Given the description of an element on the screen output the (x, y) to click on. 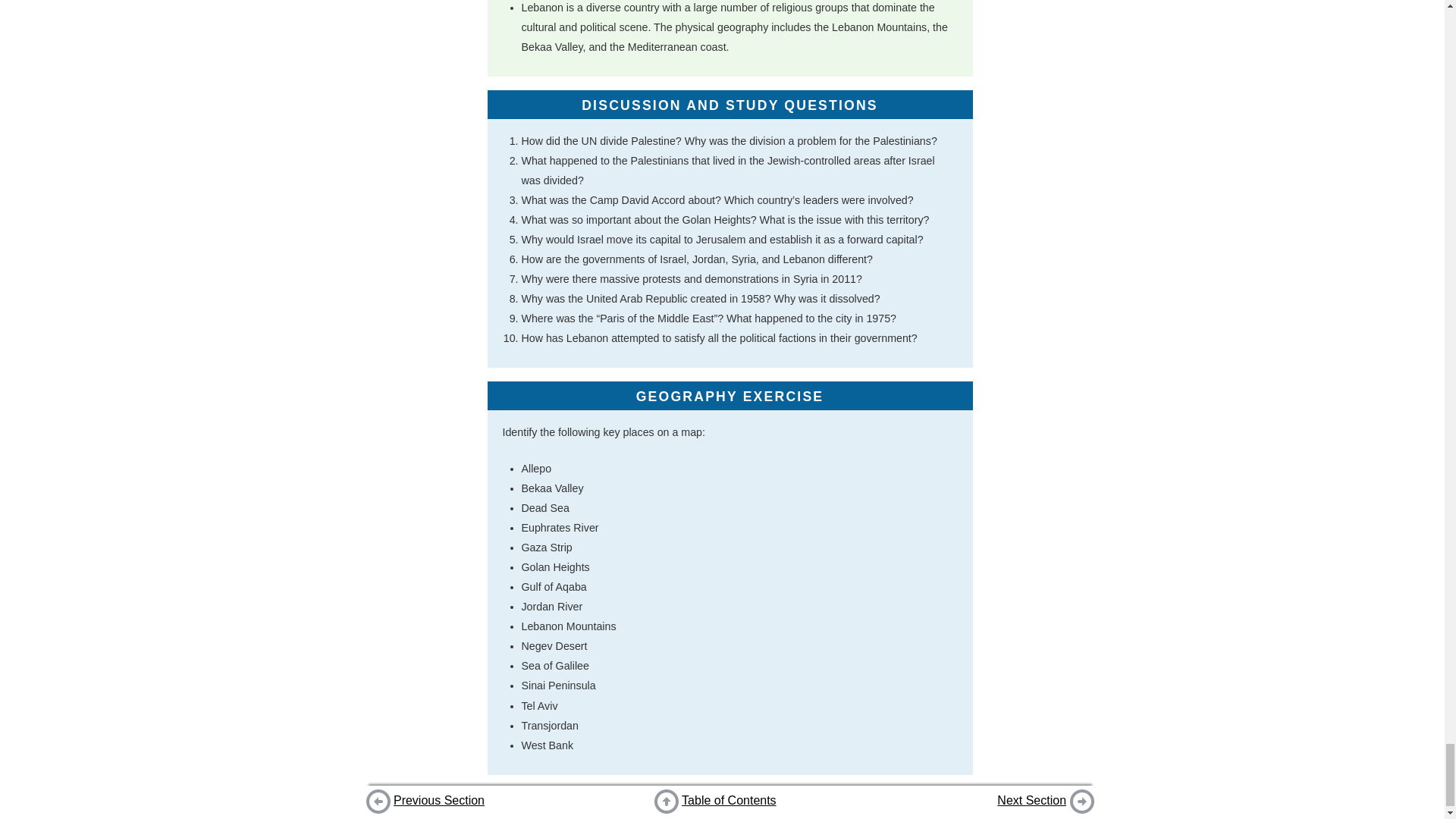
Table of Contents (728, 799)
Next Section (1031, 799)
Previous Section (438, 799)
